Given the description of an element on the screen output the (x, y) to click on. 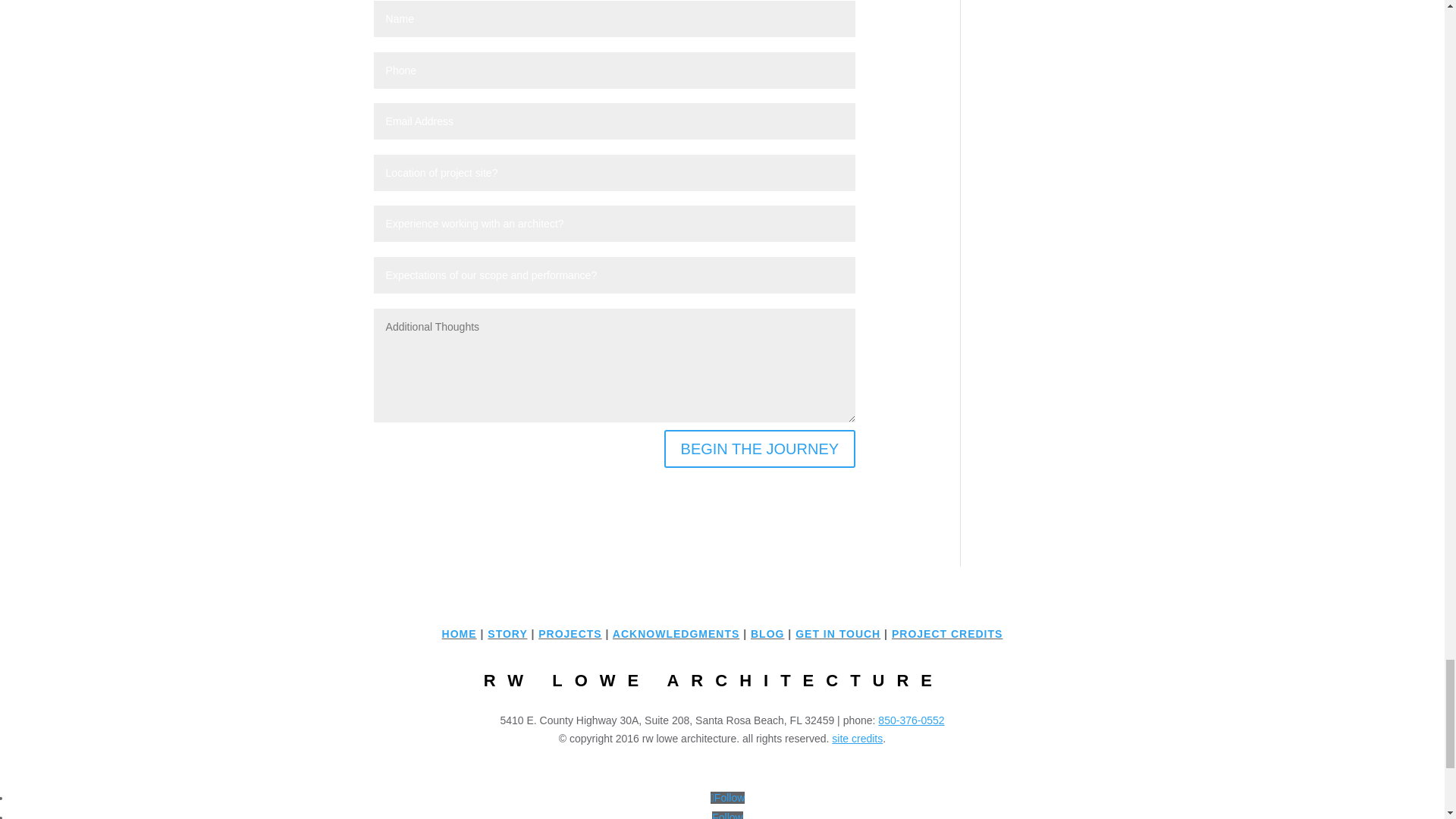
Follow on tumblr (726, 815)
Follow on Facebook (727, 797)
